Given the description of an element on the screen output the (x, y) to click on. 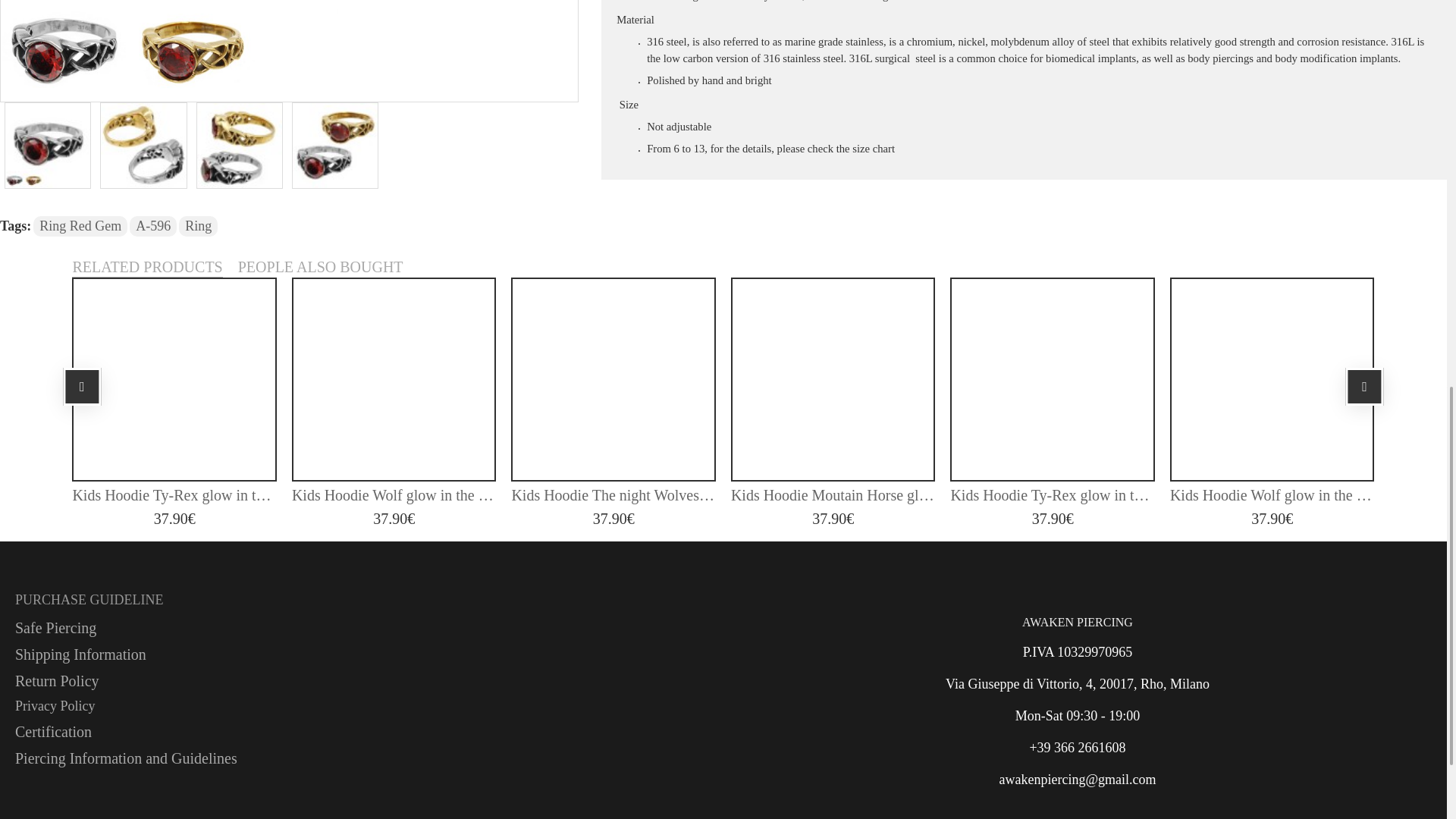
Ring Red Gem (866, 50)
Ring Red Gem (335, 144)
Ring Red Gem (239, 144)
Ring Red Gem (47, 144)
Ring Red Gem (289, 50)
Ring Red Gem (143, 144)
